Given the description of an element on the screen output the (x, y) to click on. 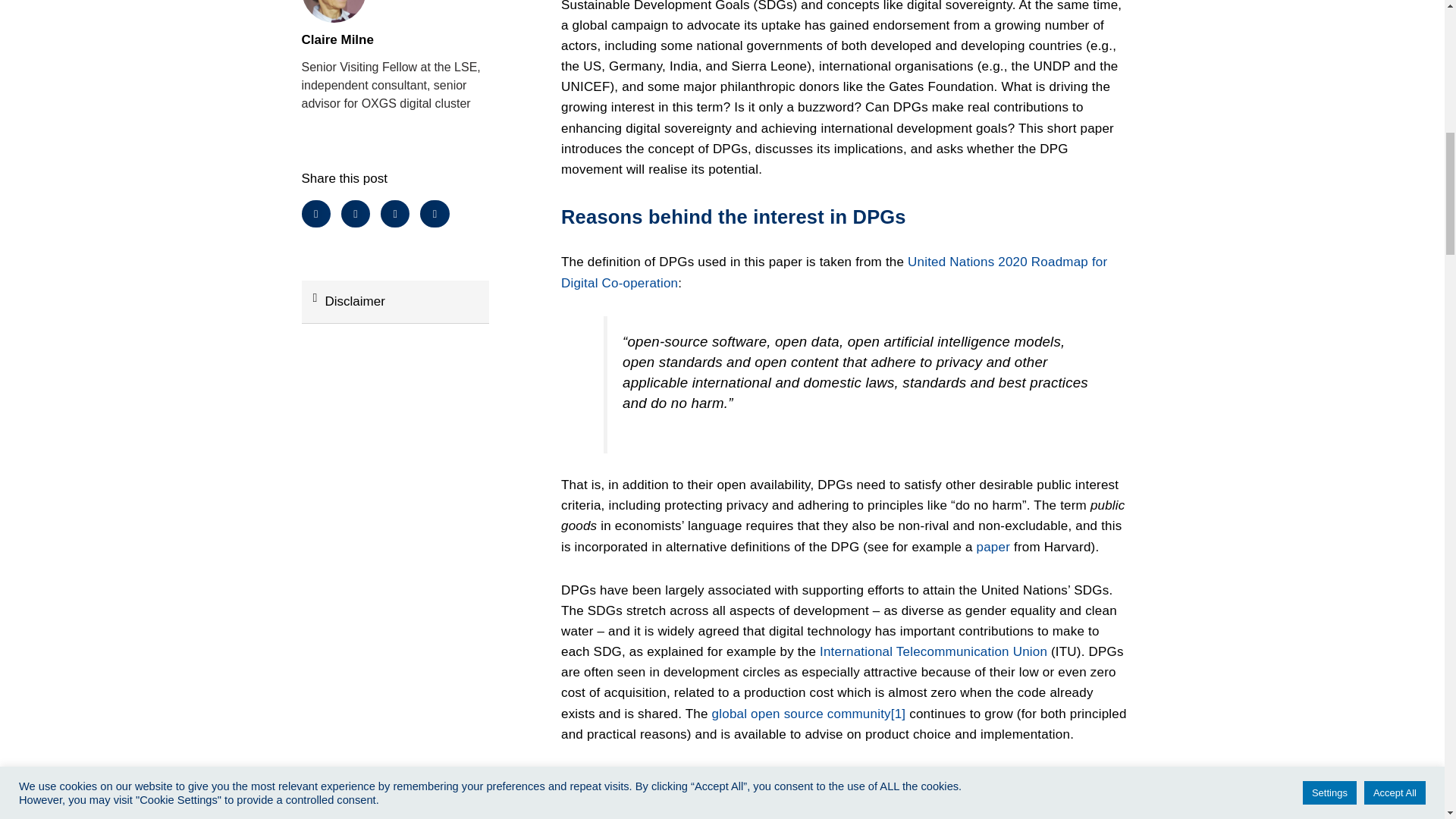
Disclaimer (354, 301)
paper (993, 546)
global open source community (801, 713)
Claire Milne (395, 39)
United Nations 2020 Roadmap for Digital Co-operation (833, 271)
International Telecommunication Union (932, 651)
